Given the description of an element on the screen output the (x, y) to click on. 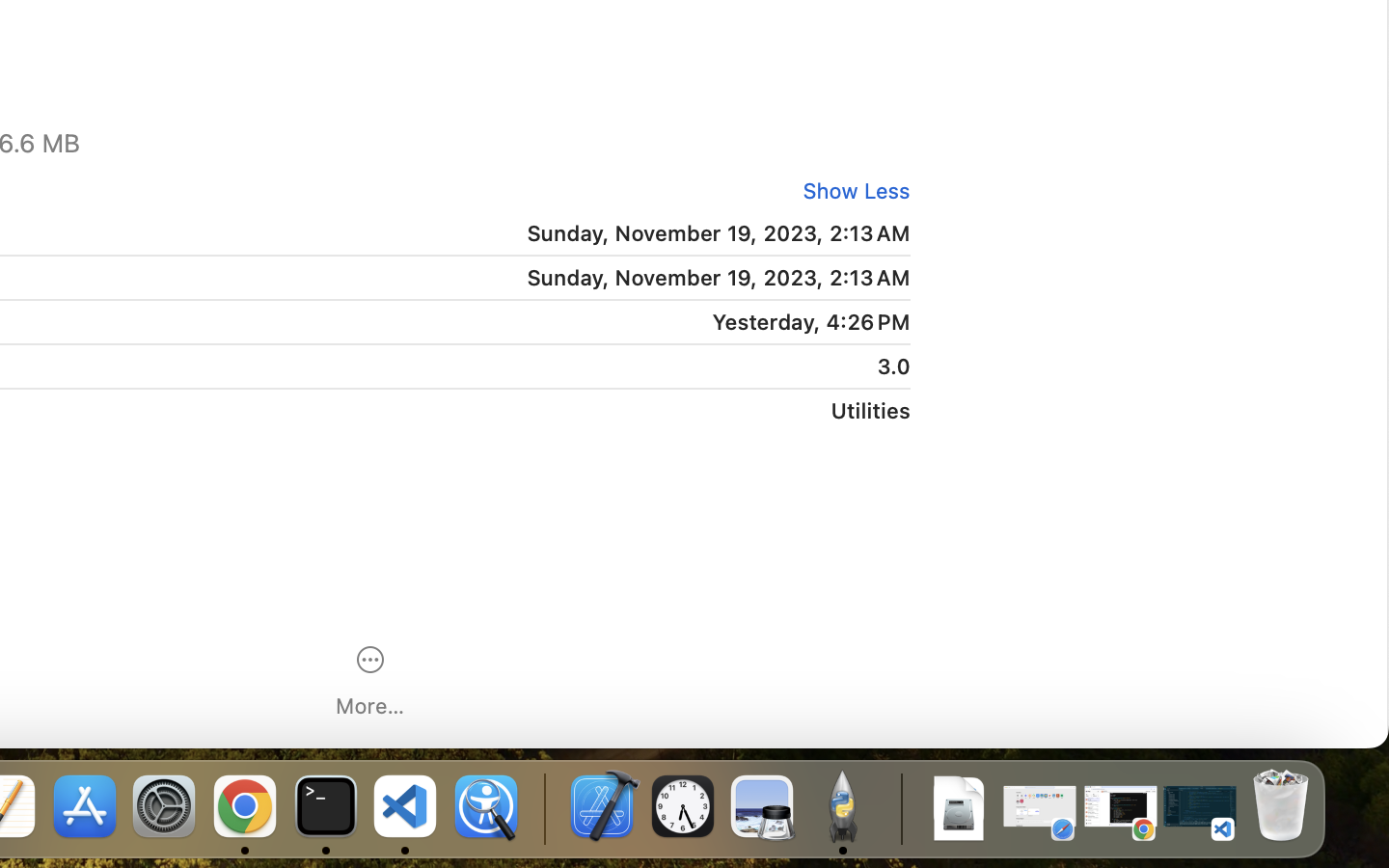
0.4285714328289032 Element type: AXDockItem (541, 807)
1 Element type: AXCheckBox (849, 190)
